Given the description of an element on the screen output the (x, y) to click on. 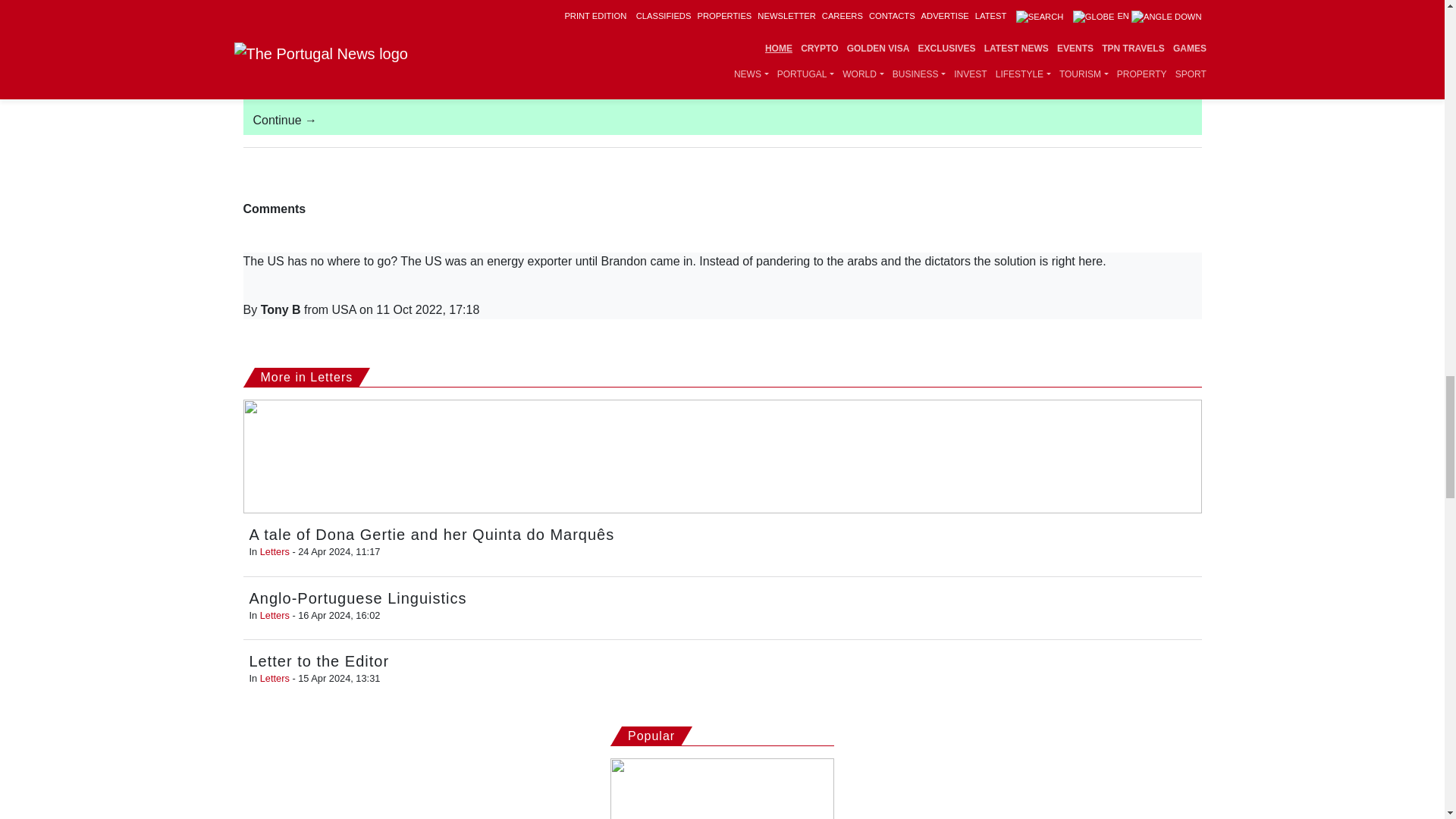
10 (247, 35)
20 (574, 35)
